Given the description of an element on the screen output the (x, y) to click on. 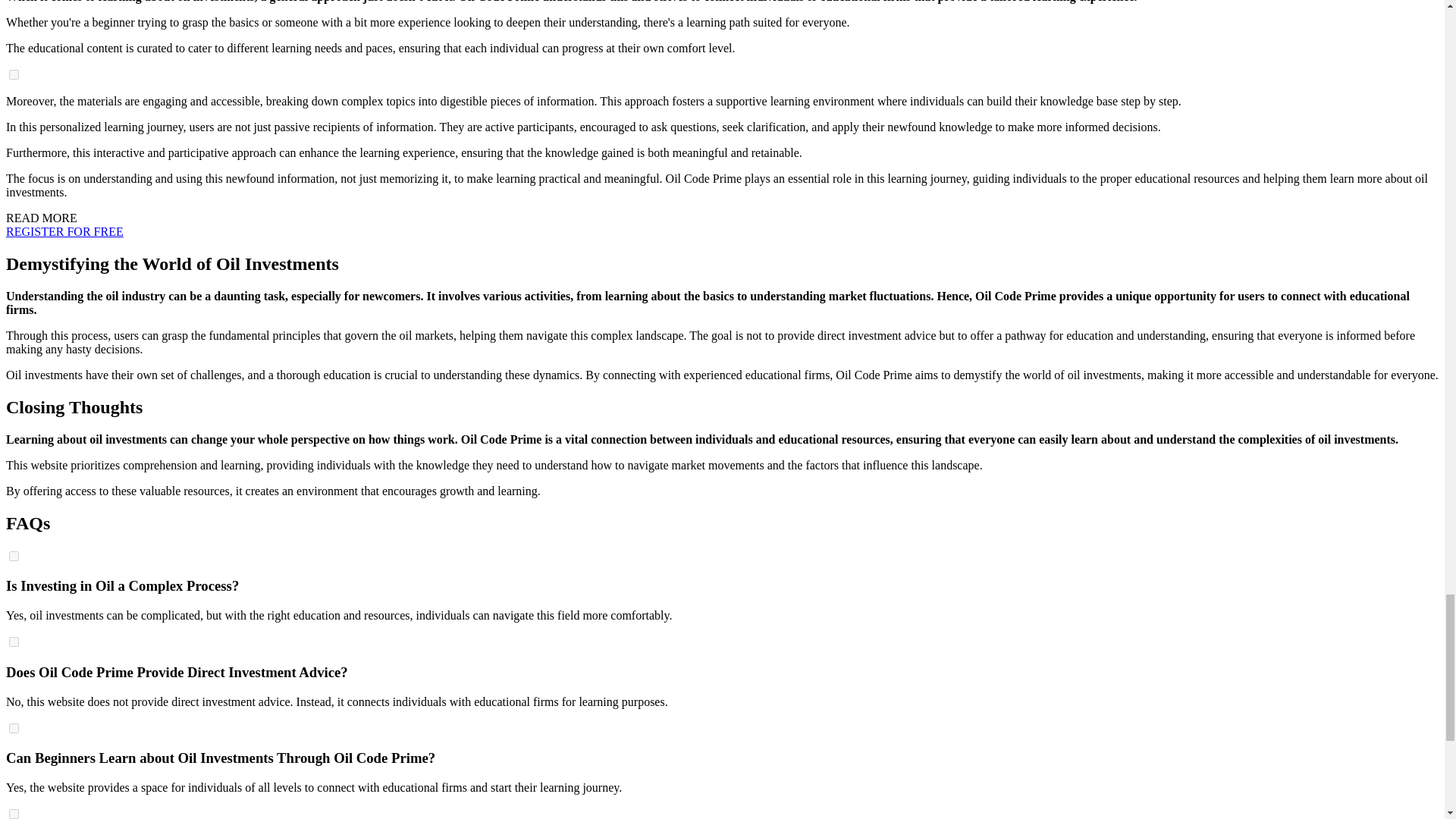
REGISTER FOR FREE (64, 231)
on (13, 556)
on (13, 728)
on (13, 814)
on (13, 74)
on (13, 642)
REGISTER FOR FREE (64, 231)
